Given the description of an element on the screen output the (x, y) to click on. 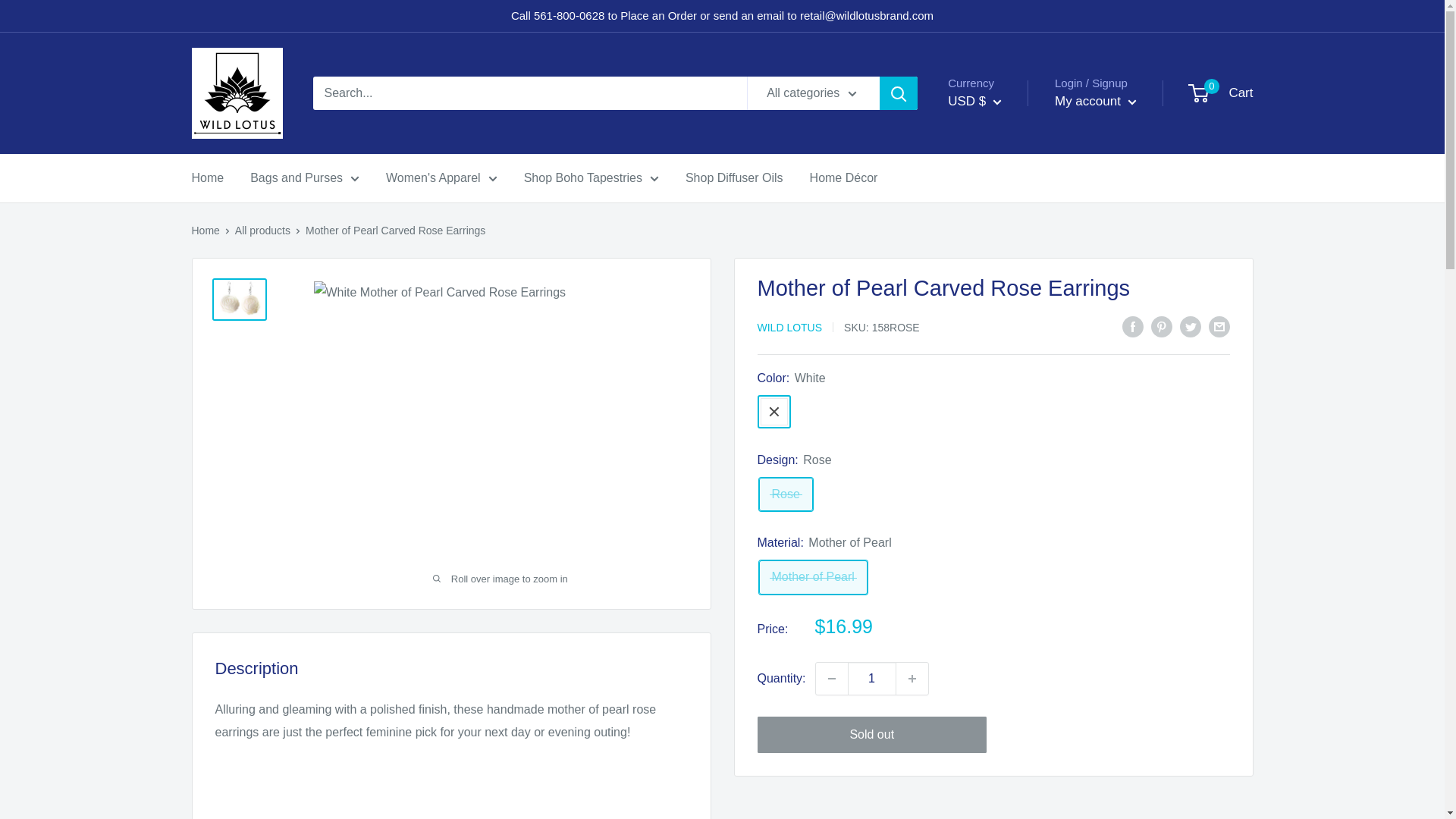
1 (871, 678)
Decrease quantity by 1 (831, 678)
Rose (785, 494)
Increase quantity by 1 (912, 678)
White (773, 411)
Mother of Pearl (812, 577)
